Given the description of an element on the screen output the (x, y) to click on. 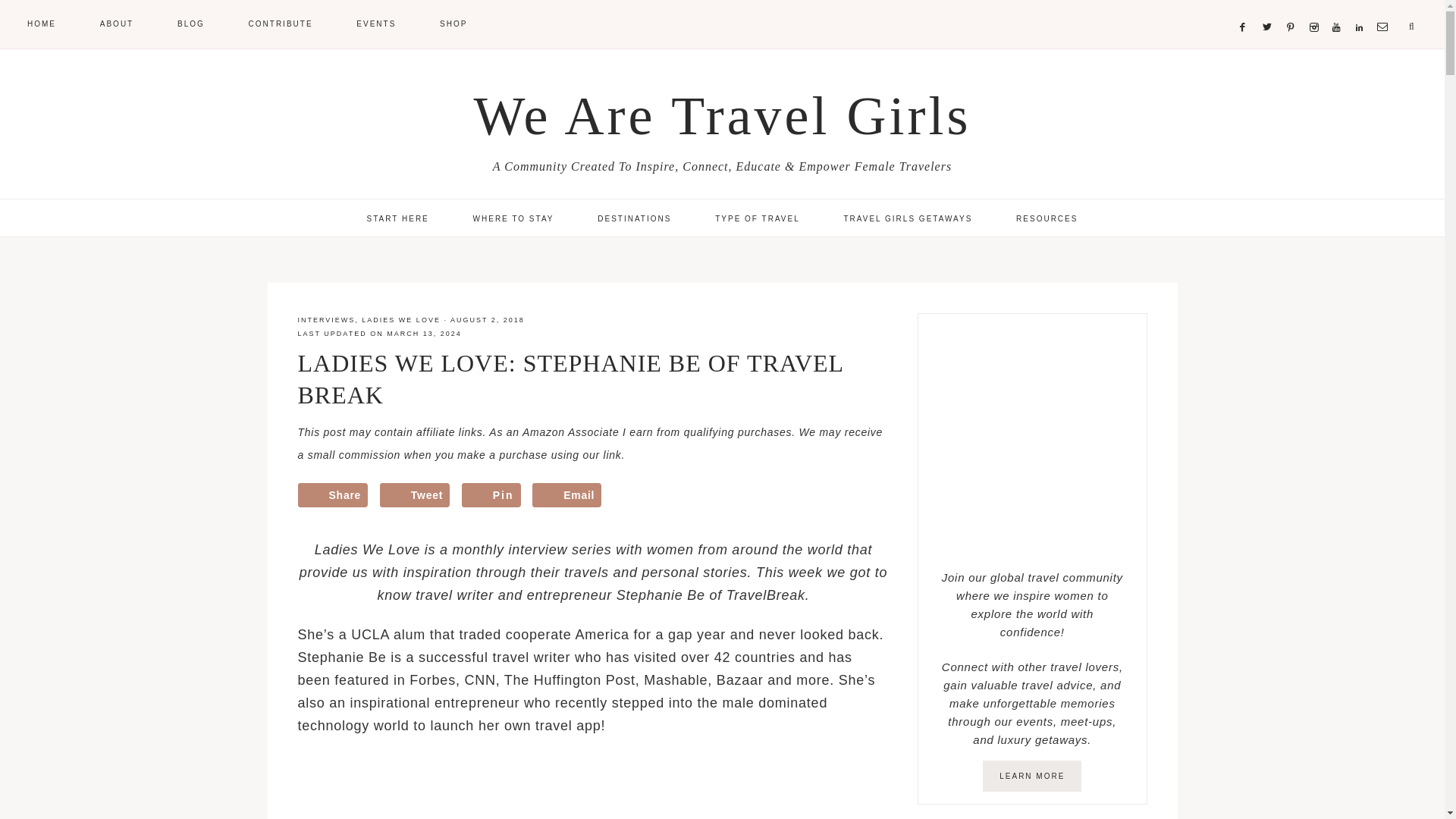
Pinterest (1293, 8)
START HERE (397, 217)
ABOUT (116, 22)
WHERE TO STAY (512, 217)
Save to Pinterest (491, 494)
Share on Facebook (332, 494)
Share on X (414, 494)
HOME (41, 22)
BLOG (190, 22)
Email (1385, 8)
Twitter (1269, 8)
We Are Travel Girls (722, 115)
CONTRIBUTE (280, 22)
YouTube (1339, 8)
